Given the description of an element on the screen output the (x, y) to click on. 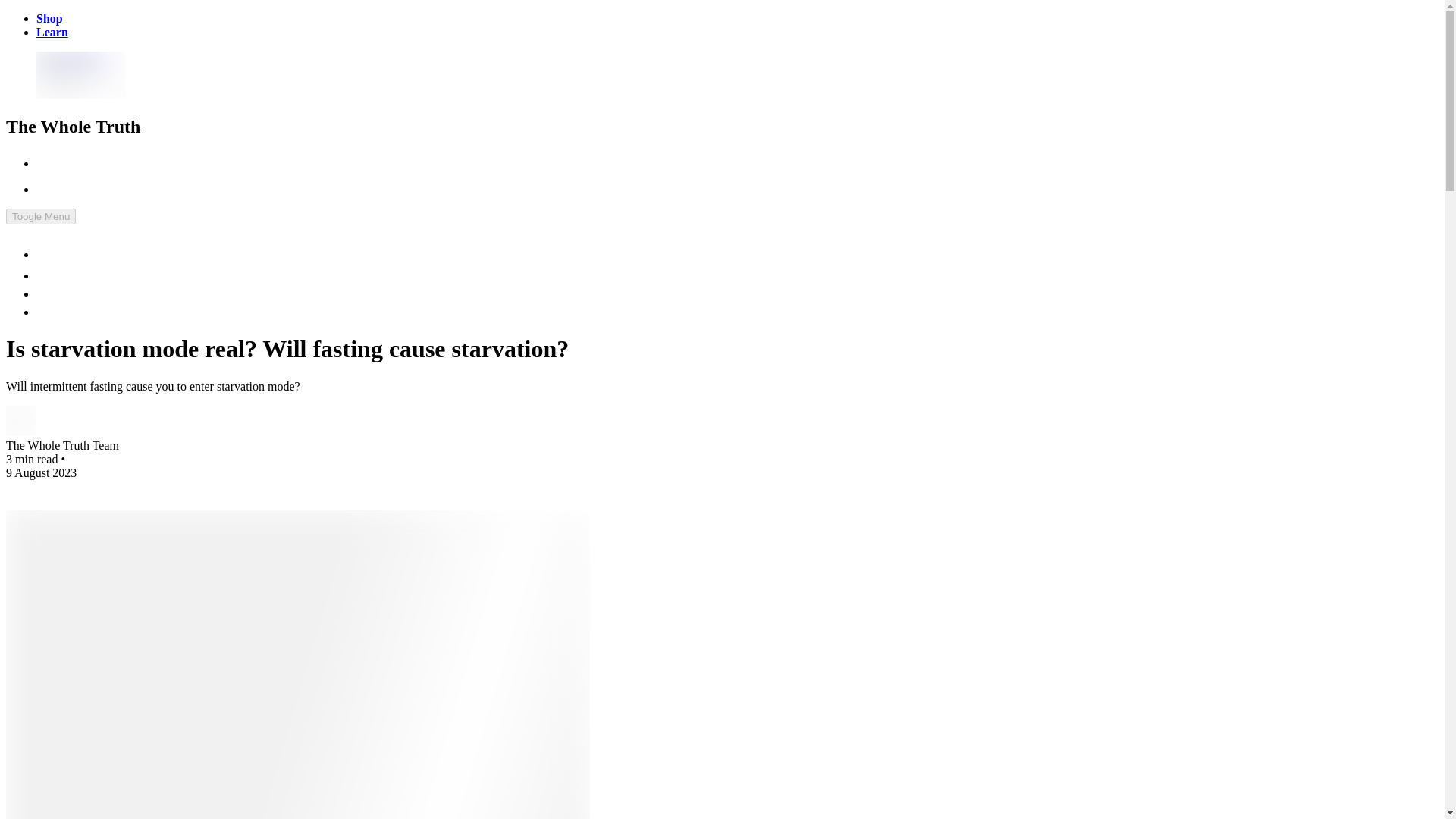
Toogle Menu (40, 216)
Learn (52, 31)
Shop (49, 18)
